Given the description of an element on the screen output the (x, y) to click on. 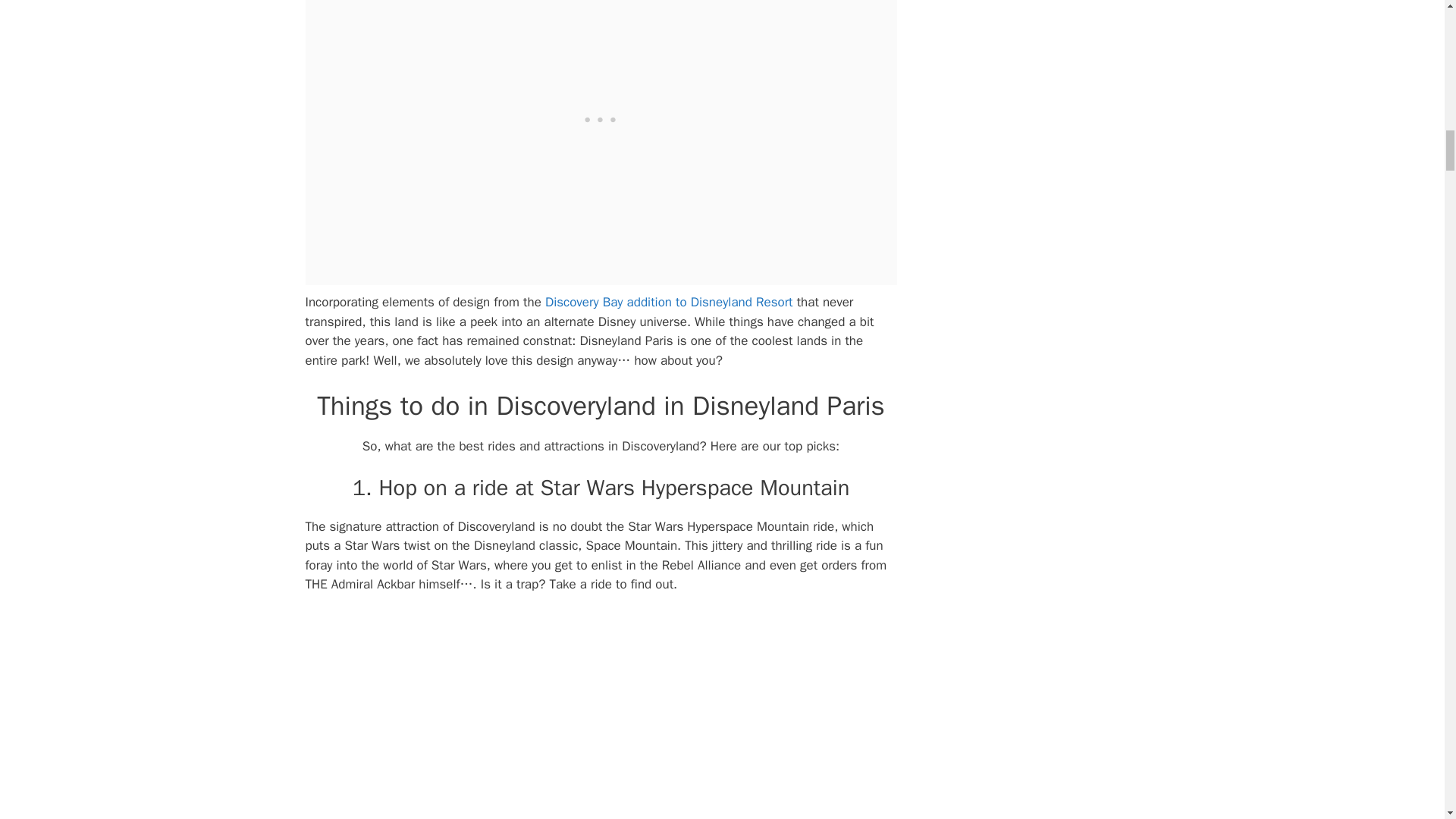
Discovery Bay addition to Disneyland Resort (668, 302)
